Given the description of an element on the screen output the (x, y) to click on. 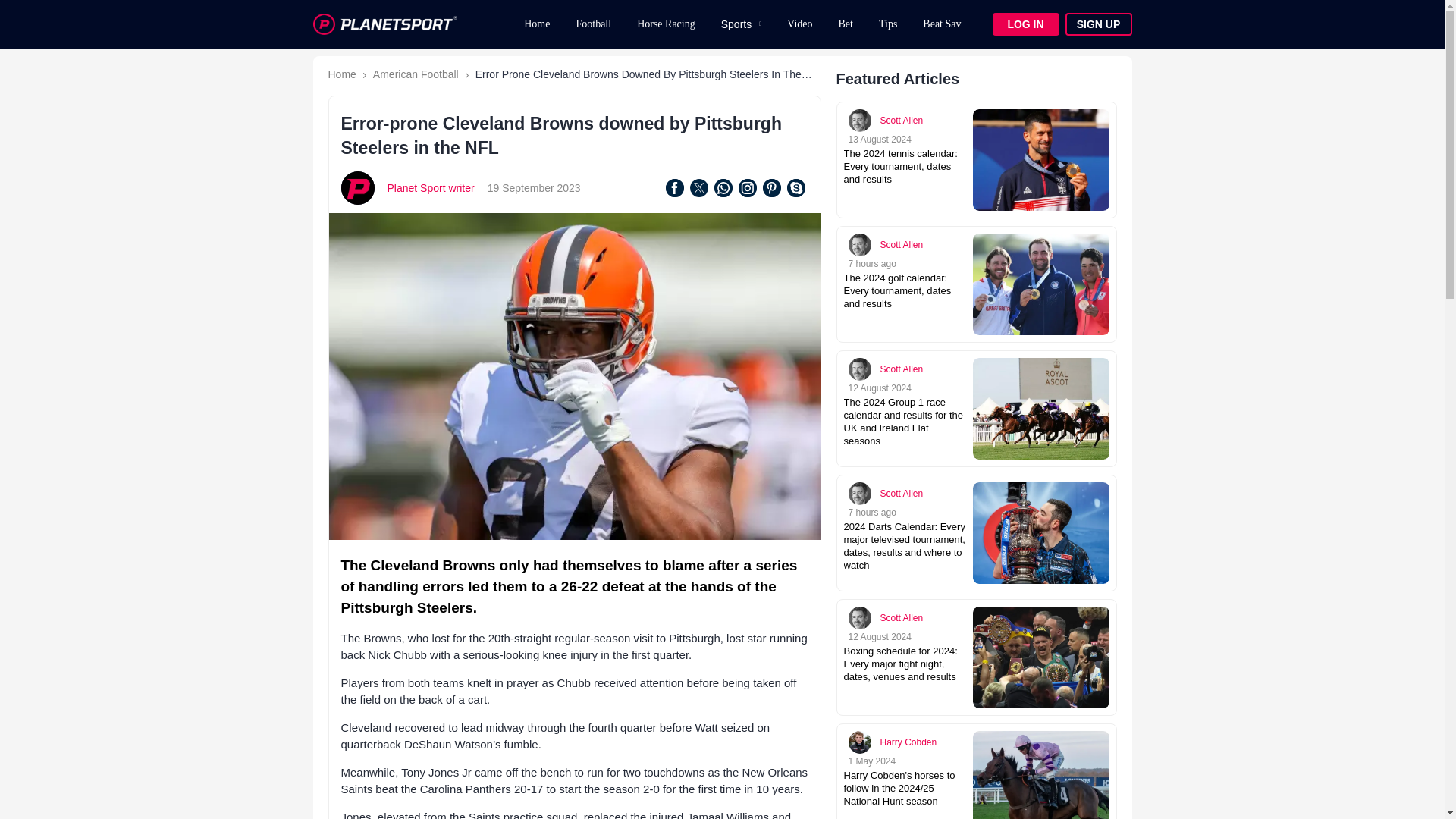
Video (799, 24)
Horse Racing (665, 24)
Tips (888, 24)
Football (593, 24)
Beat Sav (942, 24)
American Football (415, 73)
Home (341, 73)
SIGN UP (1097, 24)
Home (536, 24)
Planet Sport writer (430, 187)
